Given the description of an element on the screen output the (x, y) to click on. 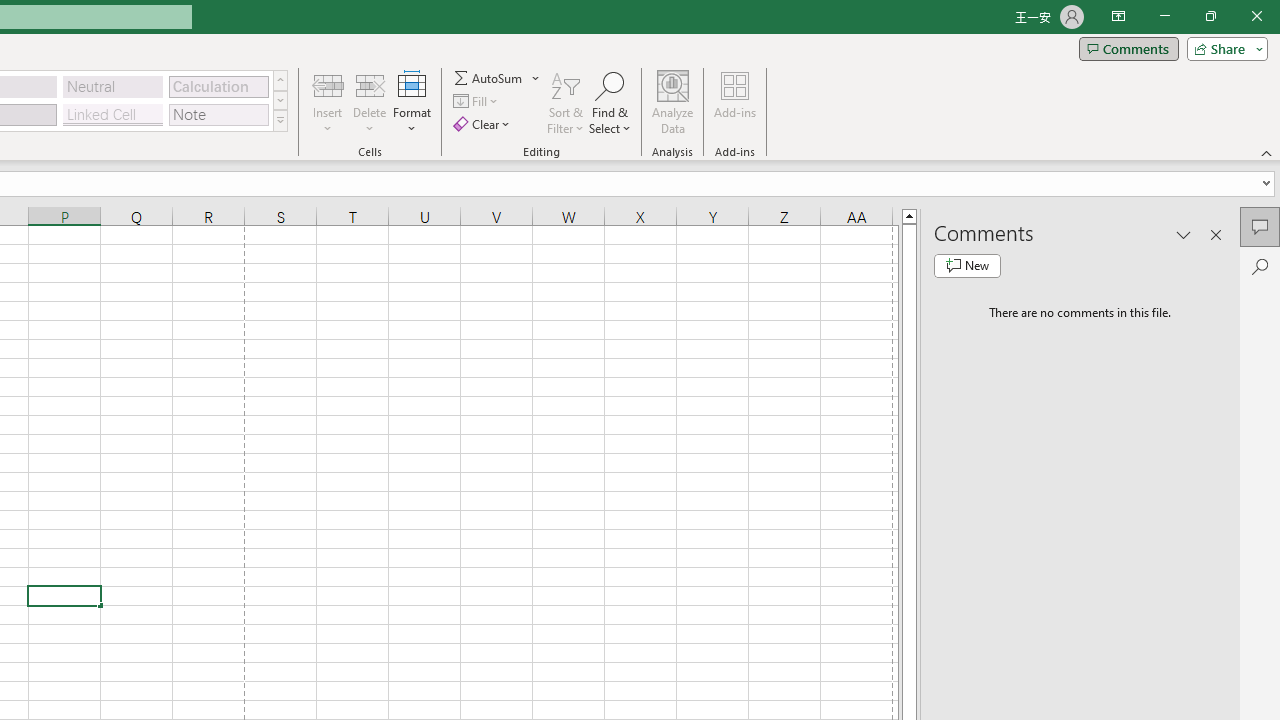
Sum (489, 78)
Insert Cells (328, 84)
Find & Select (610, 102)
